Given the description of an element on the screen output the (x, y) to click on. 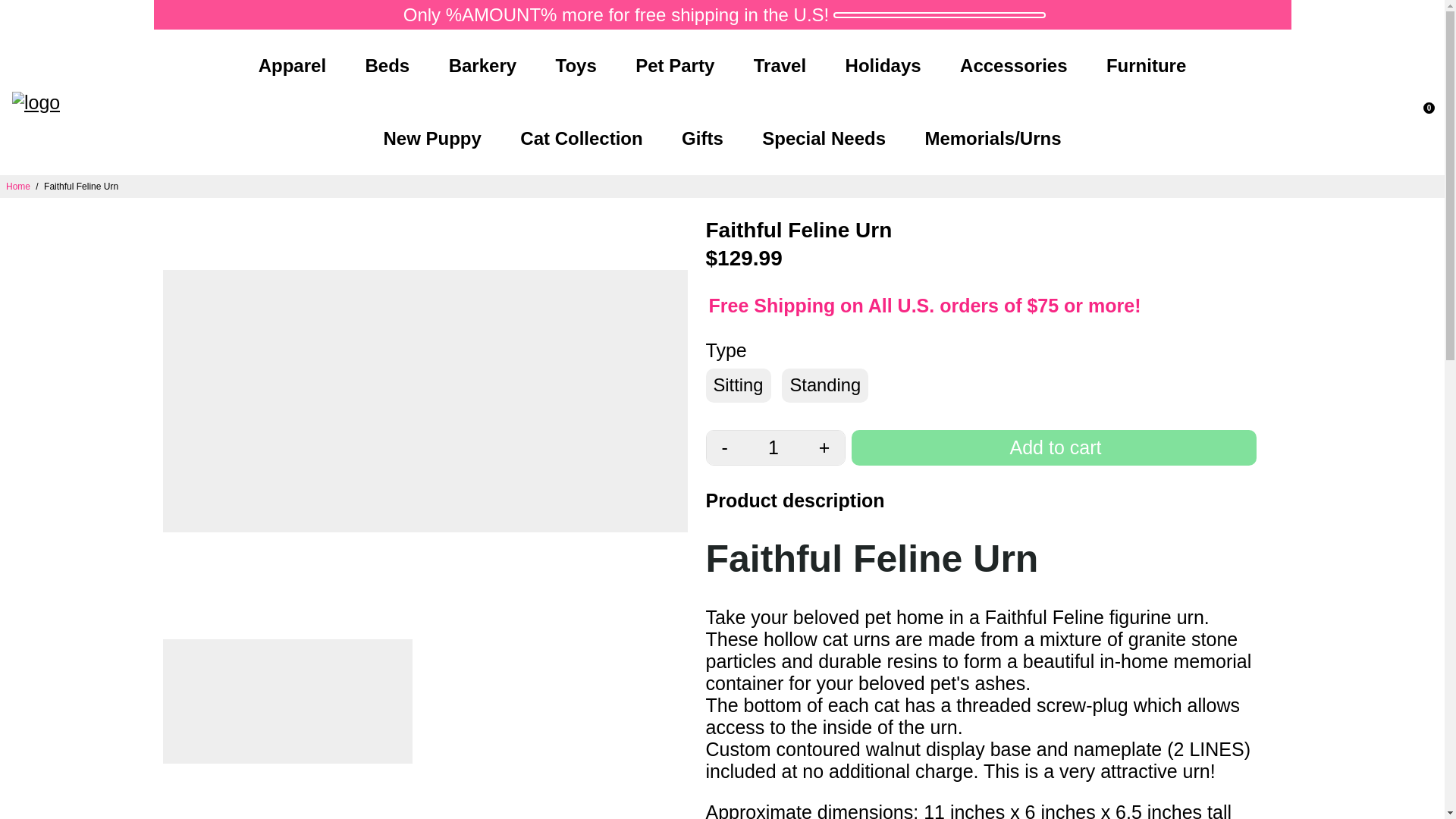
Furniture (1145, 65)
Barkery (482, 65)
Special Needs (823, 138)
Home (17, 185)
New Puppy (432, 138)
Accessories (1012, 65)
Gifts (702, 138)
1 (772, 447)
Apparel (291, 65)
Toys (575, 65)
